Given the description of an element on the screen output the (x, y) to click on. 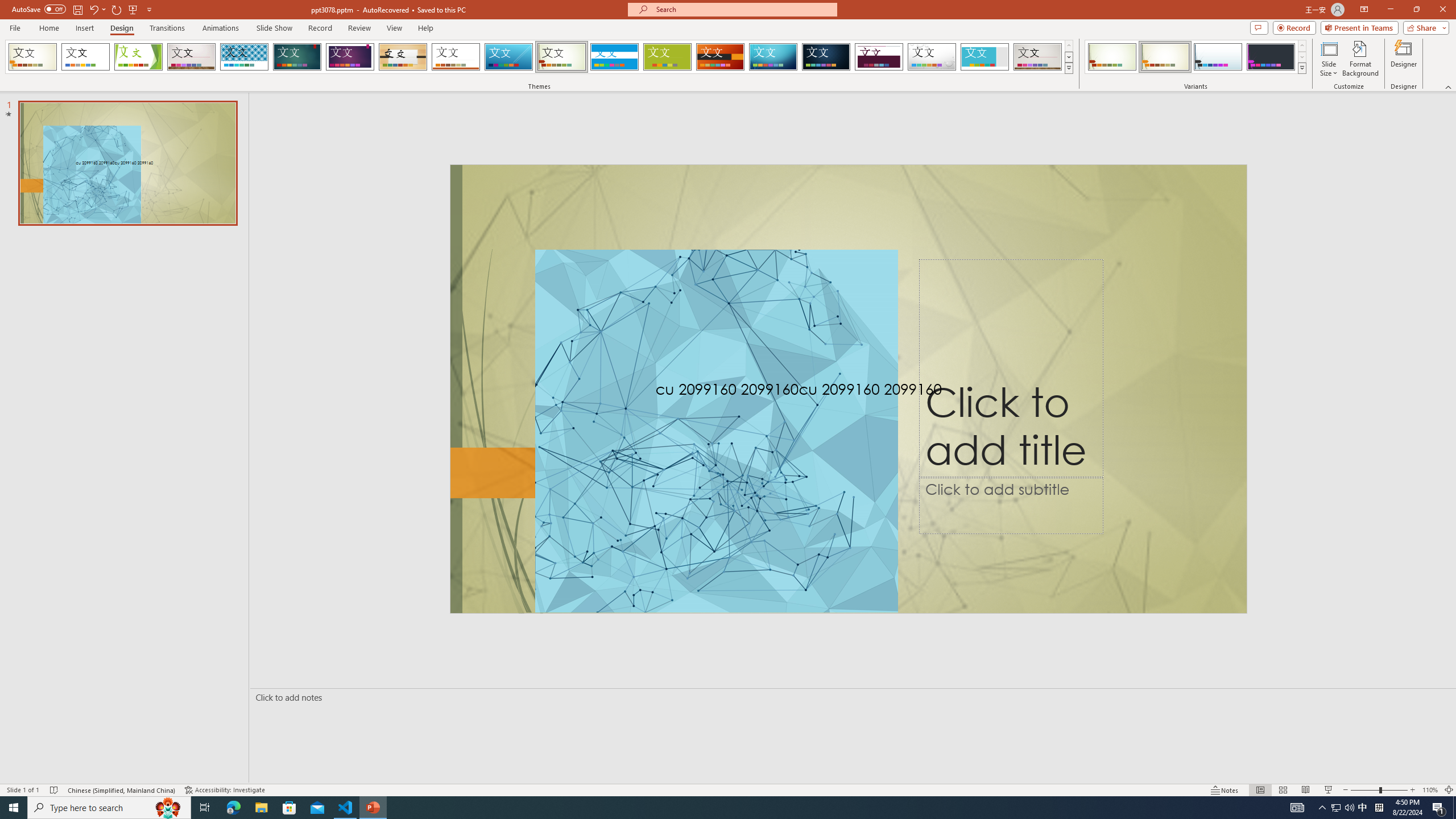
Zoom 110% (1430, 790)
Facet (138, 56)
Integral Loading Preview... (244, 56)
Wisp Loading Preview... (561, 56)
Banded Loading Preview... (614, 56)
Circuit Loading Preview... (772, 56)
Themes (1068, 67)
Frame Loading Preview... (984, 56)
